Given the description of an element on the screen output the (x, y) to click on. 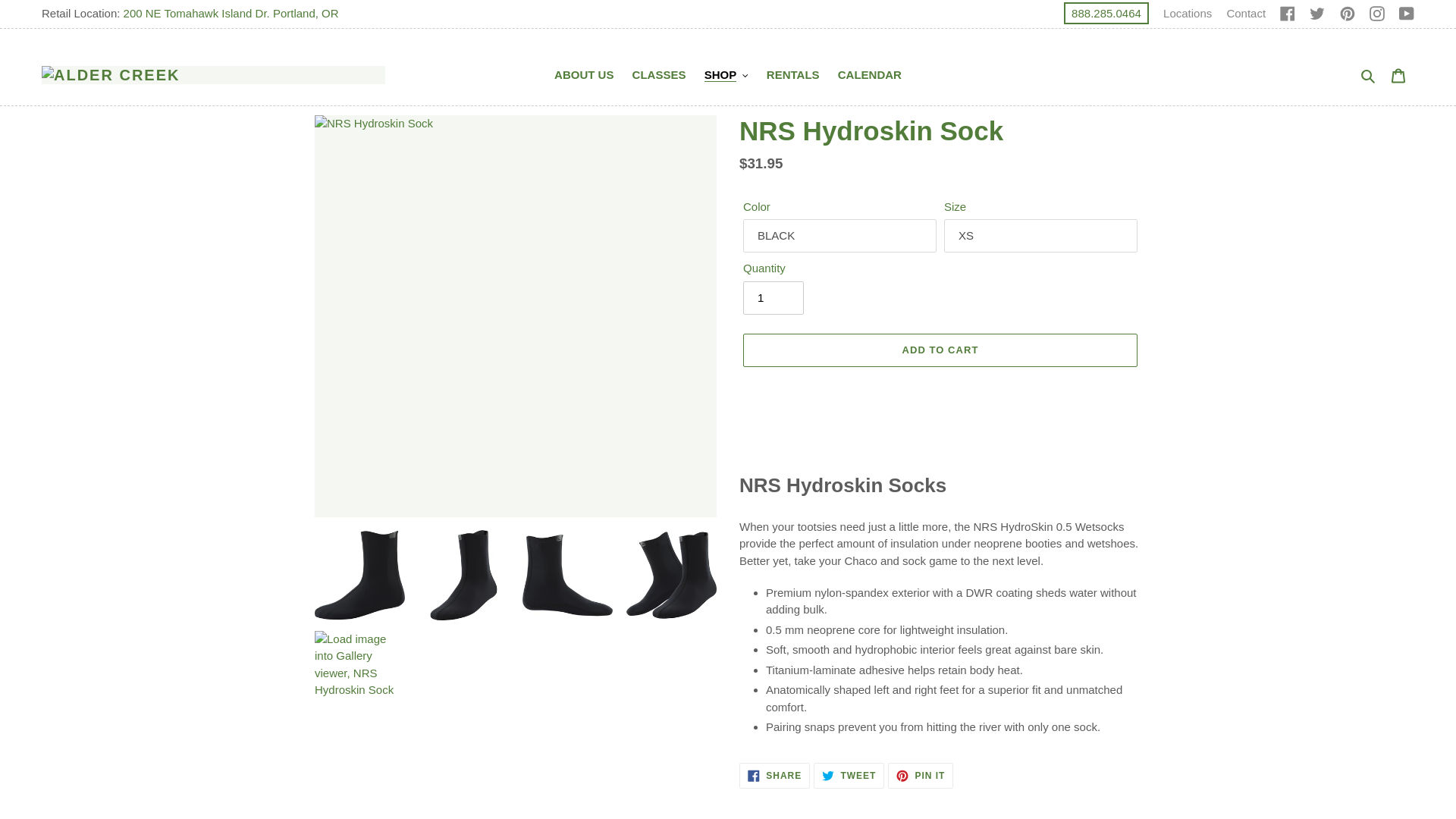
Locations (1187, 12)
Twitter (1316, 12)
ABOUT US (584, 75)
888.285.0464 (1106, 13)
Instagram (1377, 12)
Pinterest (1347, 12)
SHOP (726, 75)
Contact (1245, 12)
Facebook (1287, 12)
CLASSES (659, 75)
200 NE Tomahawk Island Dr. Portland, OR (231, 12)
YouTube (1406, 12)
1 (772, 297)
